Given the description of an element on the screen output the (x, y) to click on. 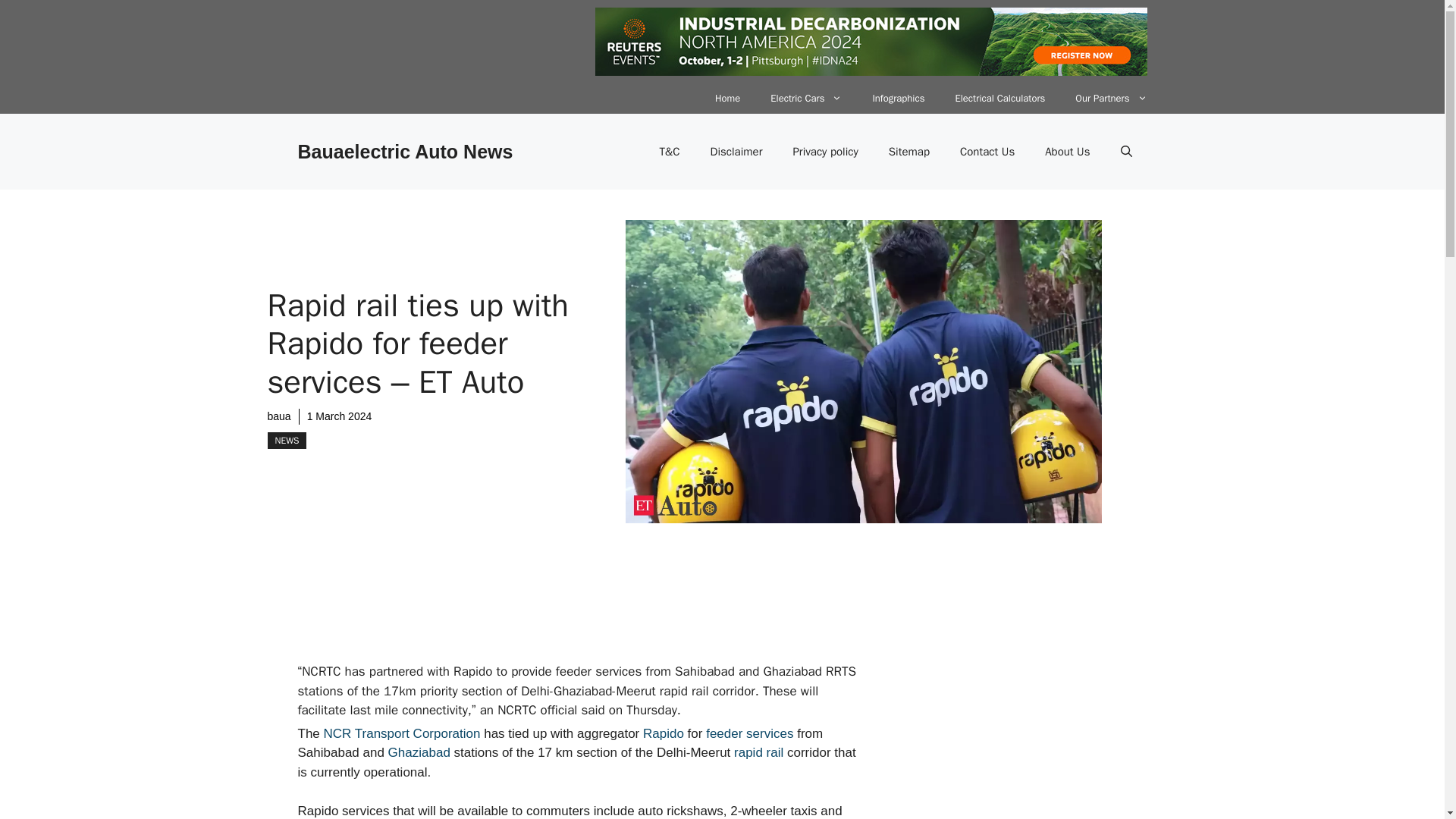
Electric Cars (806, 98)
Privacy policy (824, 151)
Disclaimer (736, 151)
Infographics (898, 98)
Our Partners (1110, 98)
Home (727, 98)
Sitemap (908, 151)
Electrical Calculators (999, 98)
Bauaelectric Auto News (404, 151)
